Given the description of an element on the screen output the (x, y) to click on. 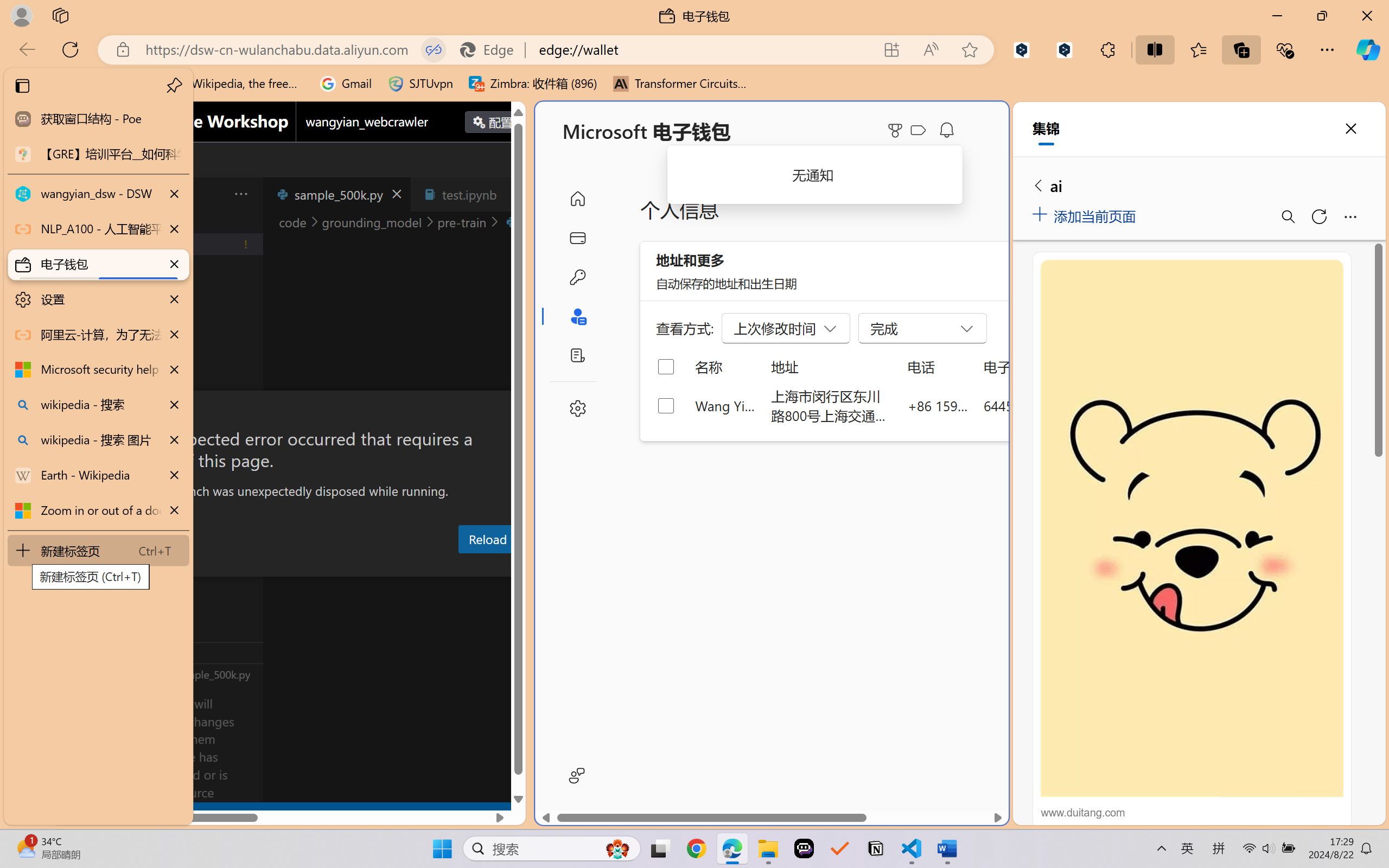
Microsoft Rewards (896, 129)
Explorer (Ctrl+Shift+E) (73, 234)
Accounts - Sign in requested (73, 732)
